Given the description of an element on the screen output the (x, y) to click on. 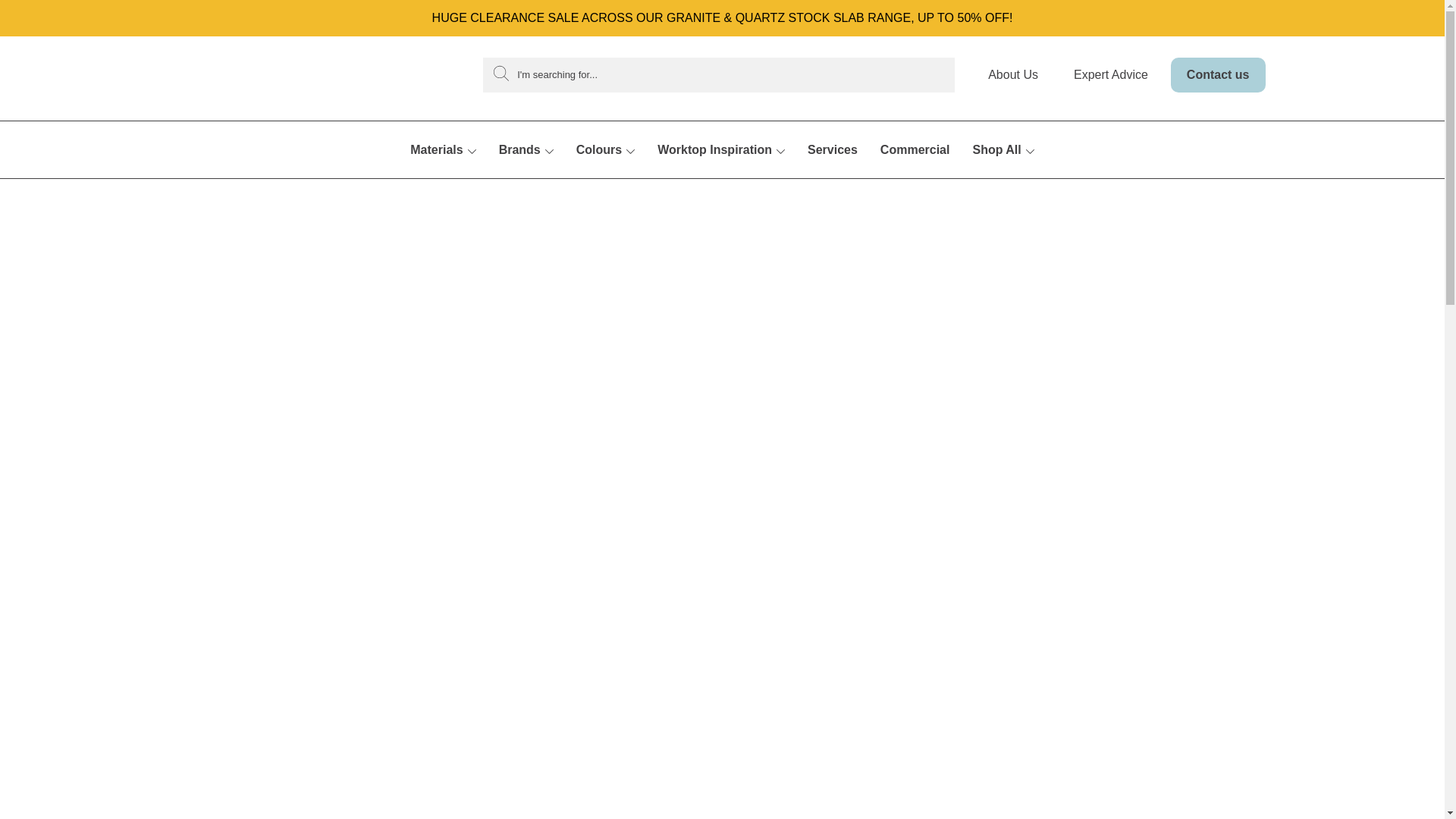
Contact us (1217, 74)
Materials (443, 168)
About Us (1019, 84)
Brands (526, 168)
Expert Advice (1111, 74)
